Given the description of an element on the screen output the (x, y) to click on. 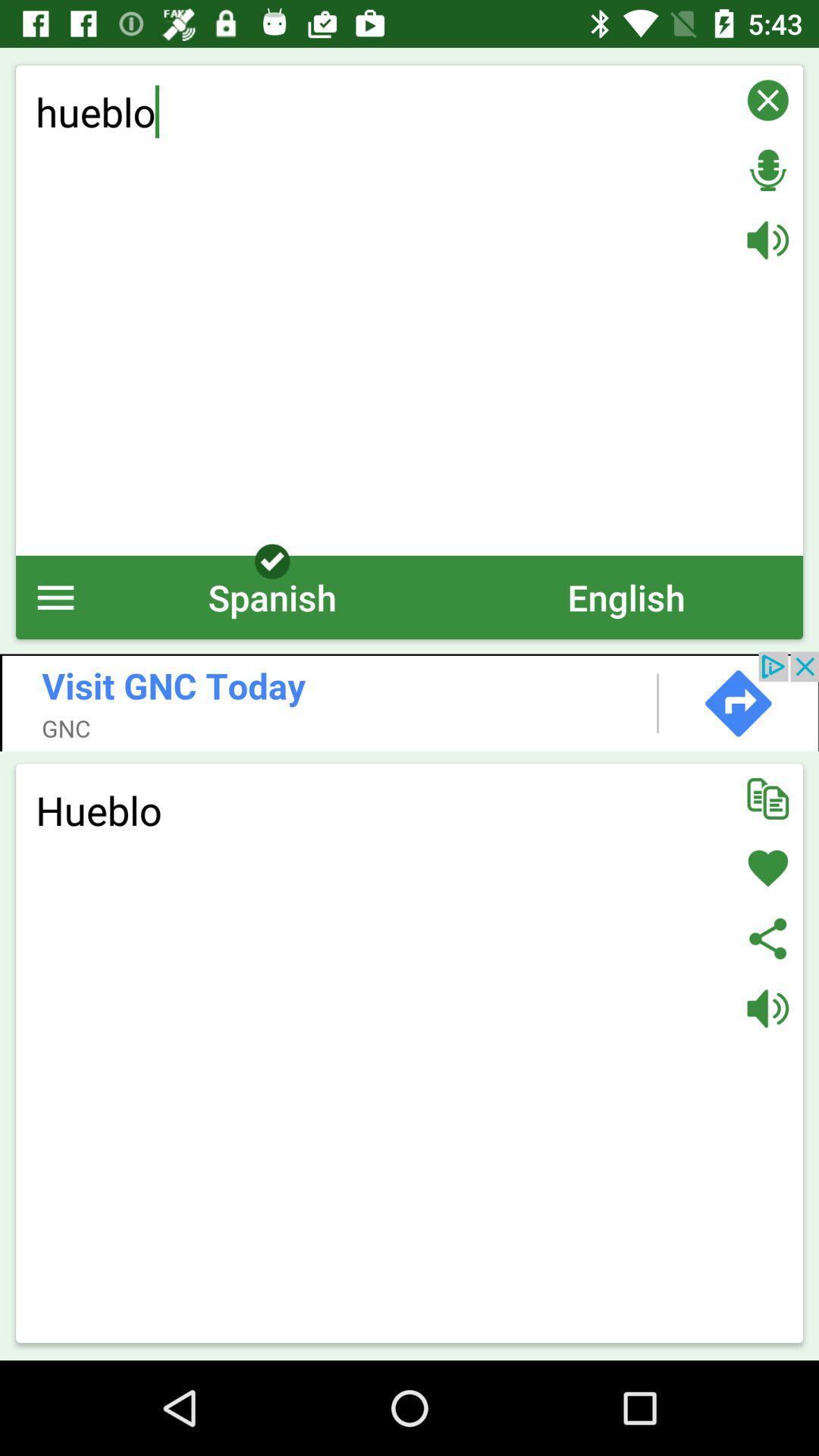
open icon below the hueblo icon (55, 597)
